Given the description of an element on the screen output the (x, y) to click on. 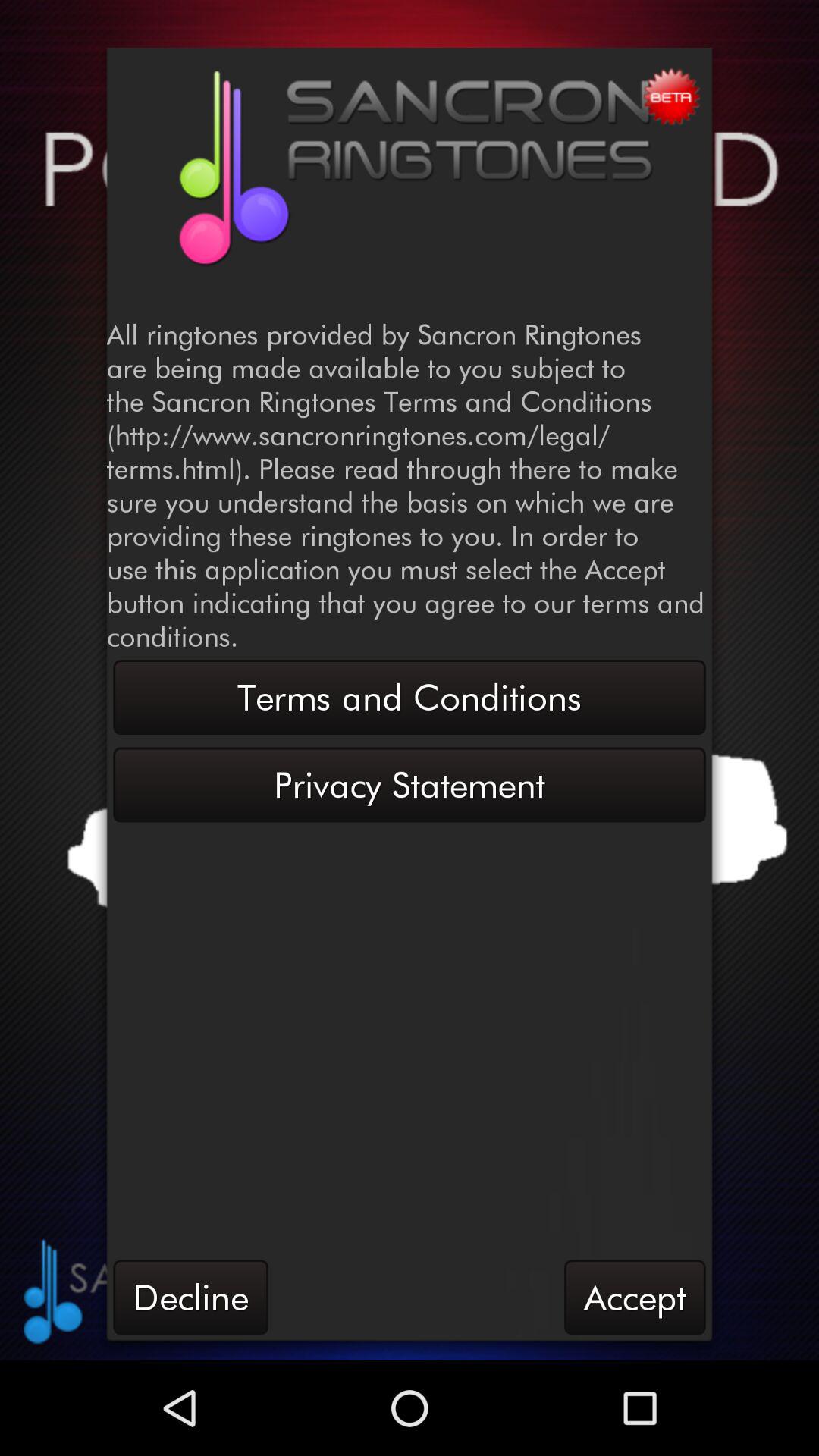
jump to the privacy statement item (409, 784)
